Given the description of an element on the screen output the (x, y) to click on. 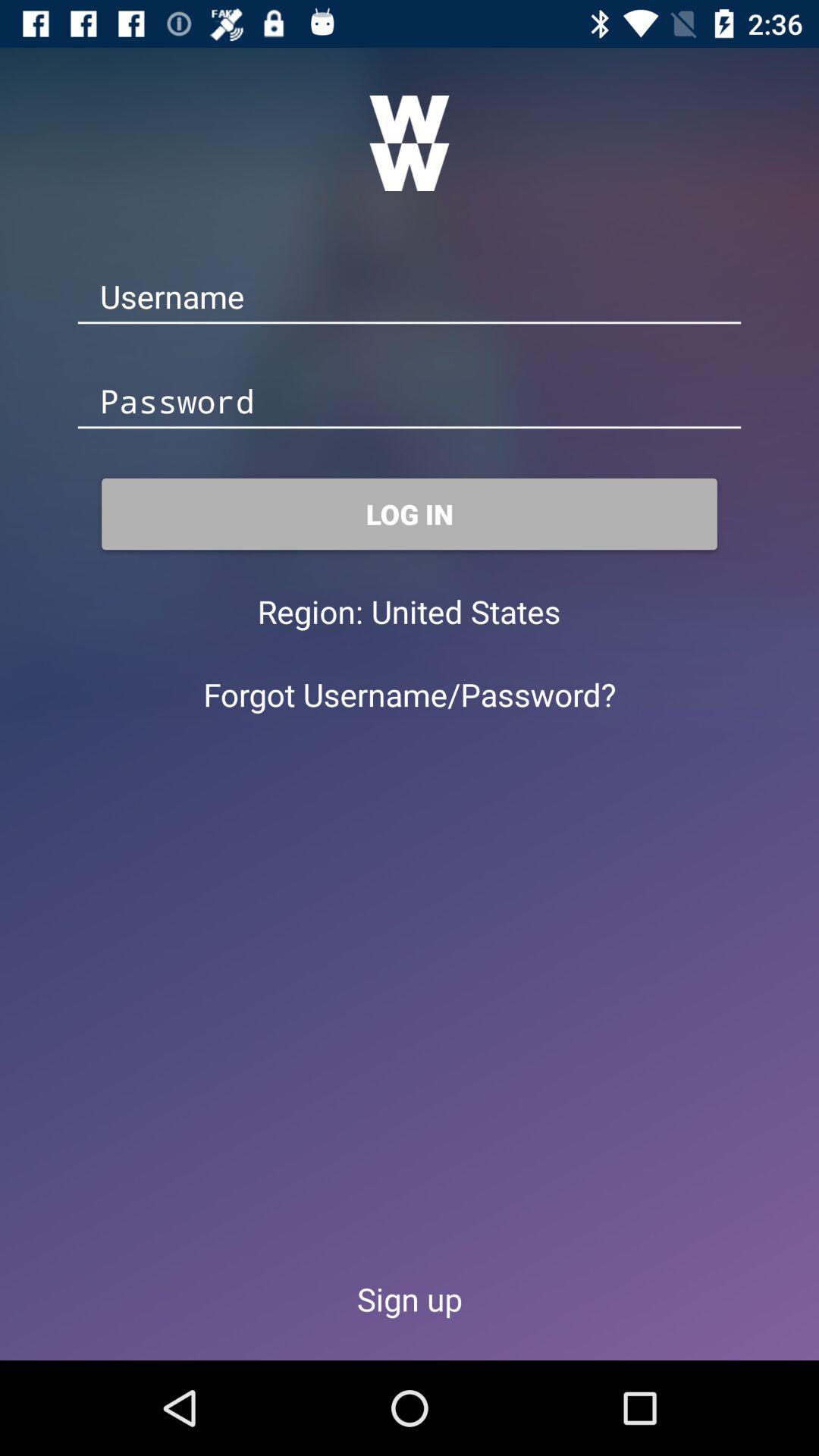
password (409, 402)
